Given the description of an element on the screen output the (x, y) to click on. 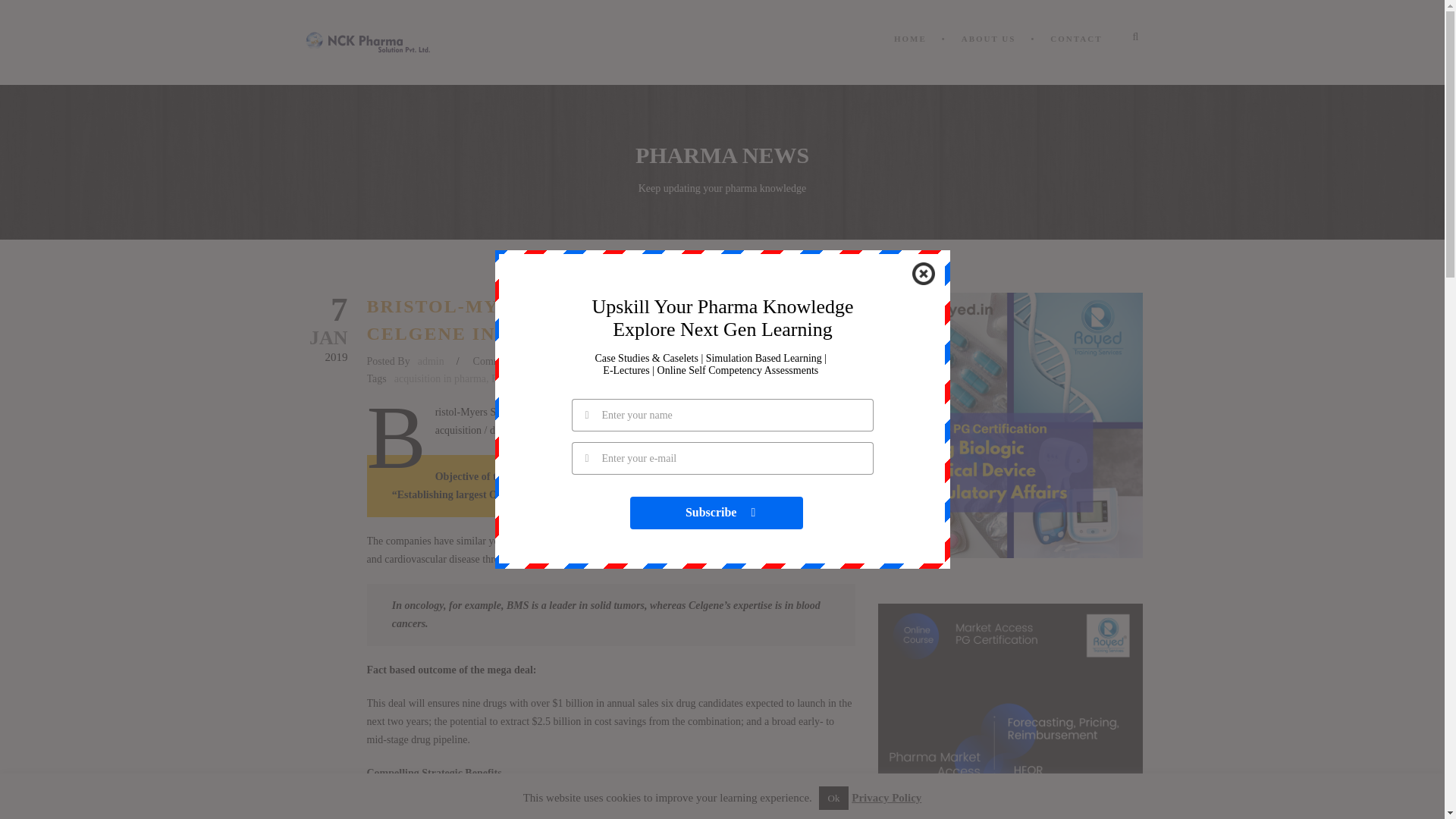
admin (430, 360)
ABOUT US (986, 54)
acquisition in pharma (440, 378)
Bristol-Myers Squibb (565, 378)
pharma acquisition (697, 378)
HOME (917, 54)
Privacy Policy (886, 797)
Ok (833, 797)
BMS (502, 378)
Celgene (632, 378)
Posts by admin (430, 360)
CONTACT (1073, 54)
0 (528, 360)
